Given the description of an element on the screen output the (x, y) to click on. 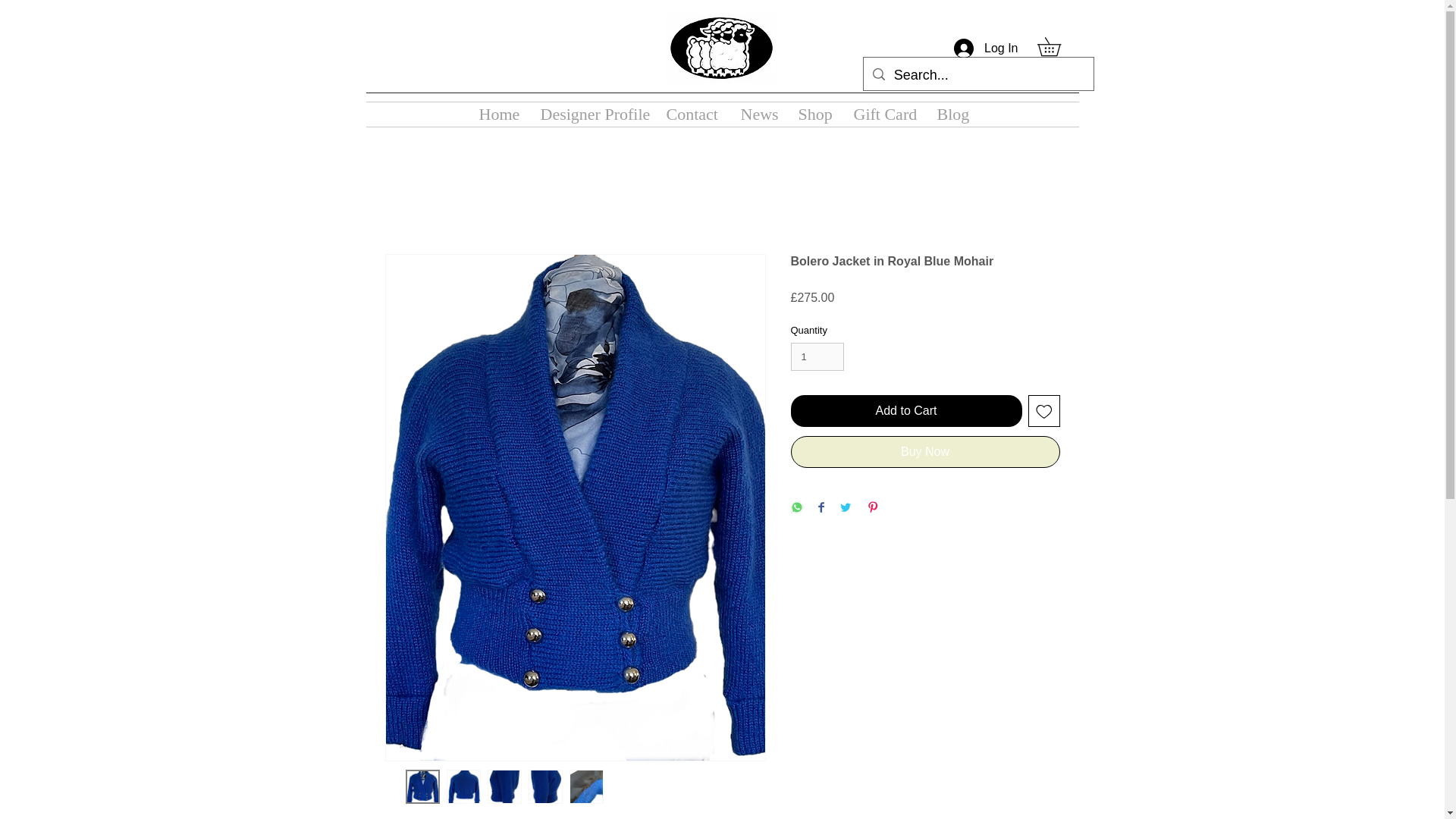
Buy Now (924, 451)
Blog (950, 114)
Angora Goats (721, 48)
Home (497, 114)
News (758, 114)
Add to Cart (906, 410)
Designer Profile (592, 114)
1 (817, 357)
Shop (815, 114)
Contact (692, 114)
Log In (985, 48)
Gift Card (882, 114)
